Given the description of an element on the screen output the (x, y) to click on. 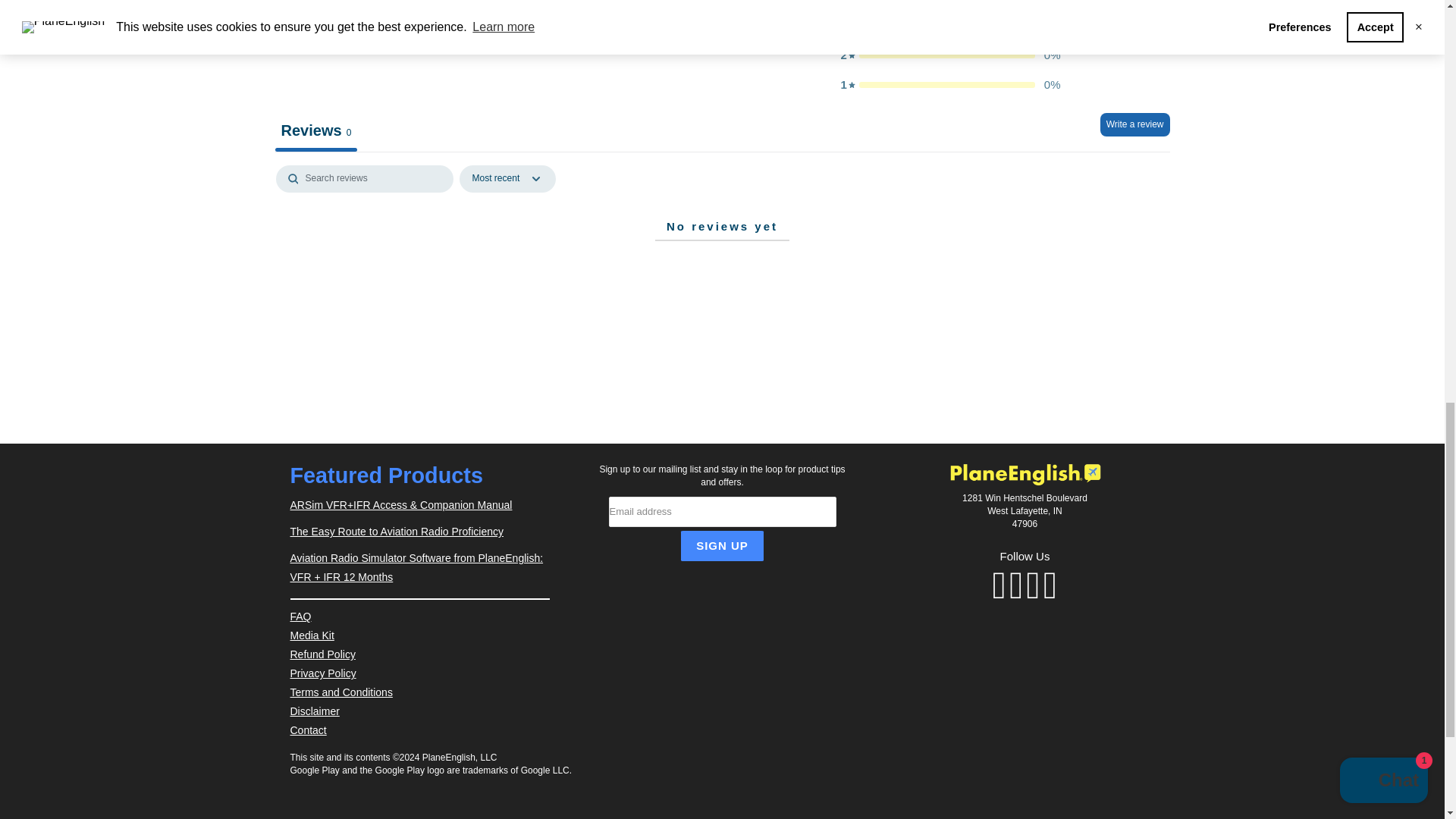
Sign Up (721, 545)
PlaneEnglish on Twitter (999, 585)
PlaneEnglish on Facebook (1016, 585)
PlaneEnglish Media Kit (311, 635)
PlaneEnglish on Instagram (1050, 585)
PlaneEnglish on YouTube (1033, 585)
